Given the description of an element on the screen output the (x, y) to click on. 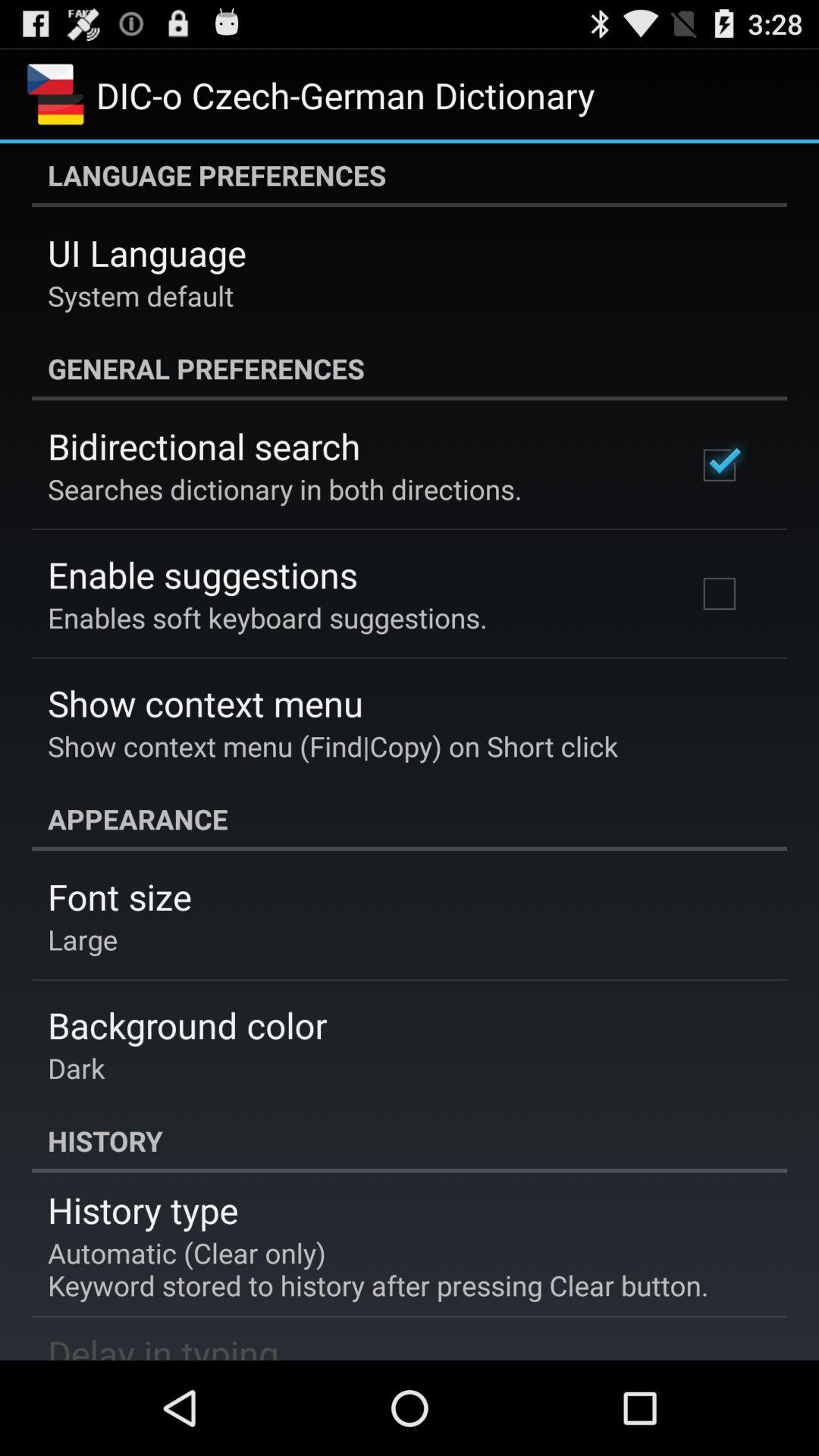
scroll until the ui language app (146, 252)
